Given the description of an element on the screen output the (x, y) to click on. 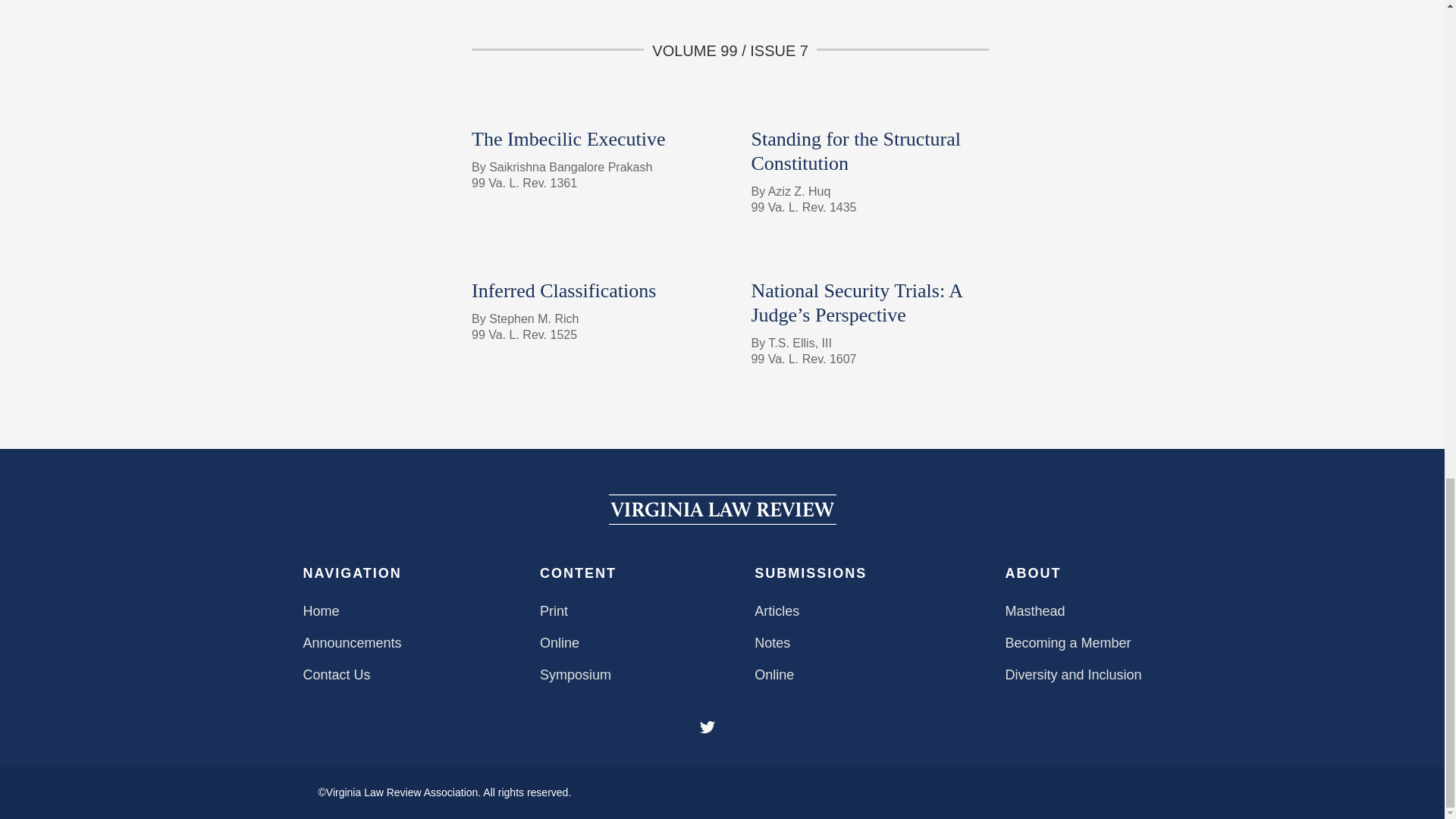
The Imbecilic Executive (568, 138)
Standing for the Structural Constitution (855, 150)
Inferred Classifications (563, 291)
